Given the description of an element on the screen output the (x, y) to click on. 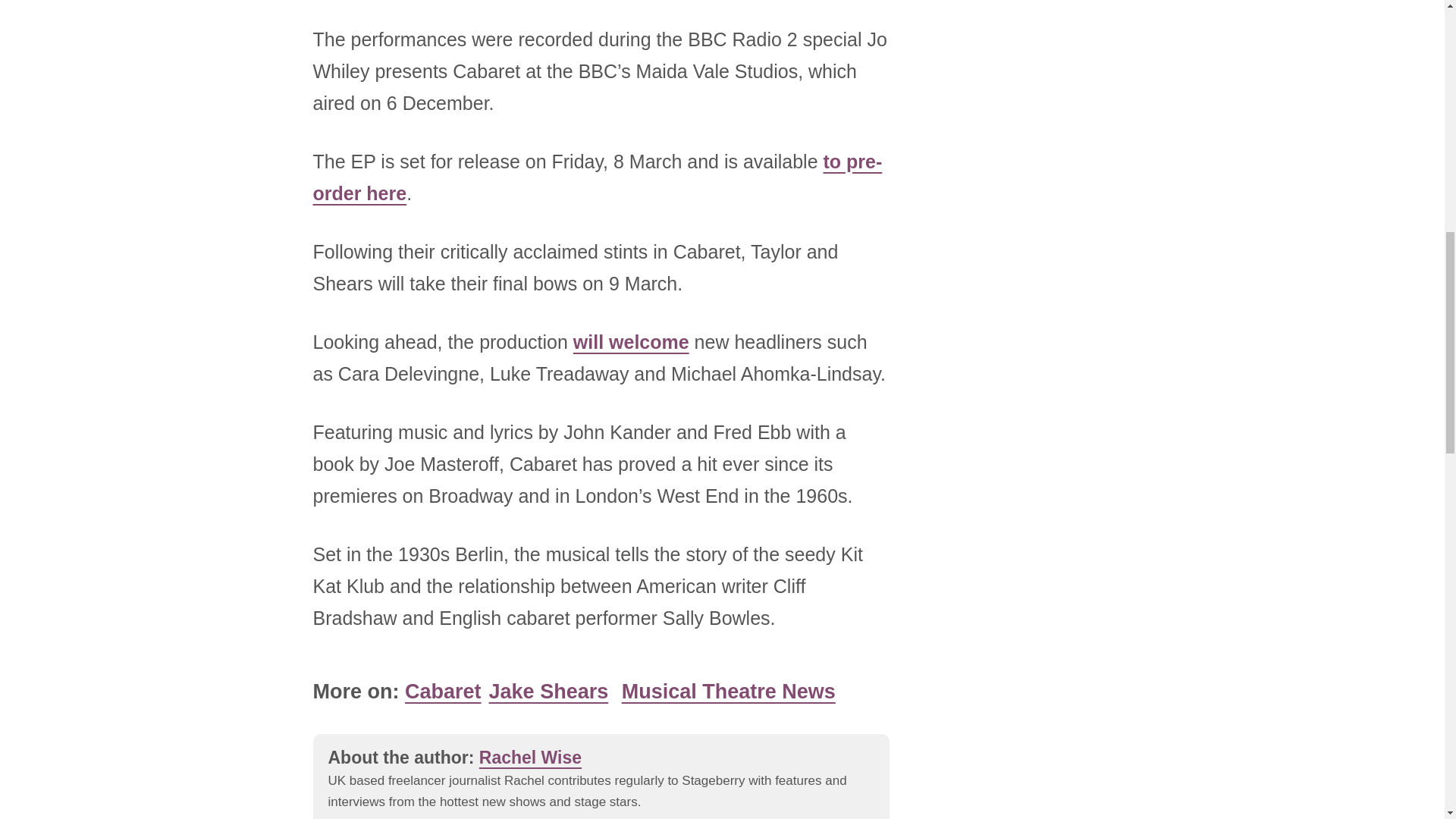
Musical Theatre News (728, 690)
Jake Shears (548, 690)
will welcome (630, 341)
Cabaret (442, 690)
Rachel Wise (529, 757)
to pre-order here (597, 176)
